Given the description of an element on the screen output the (x, y) to click on. 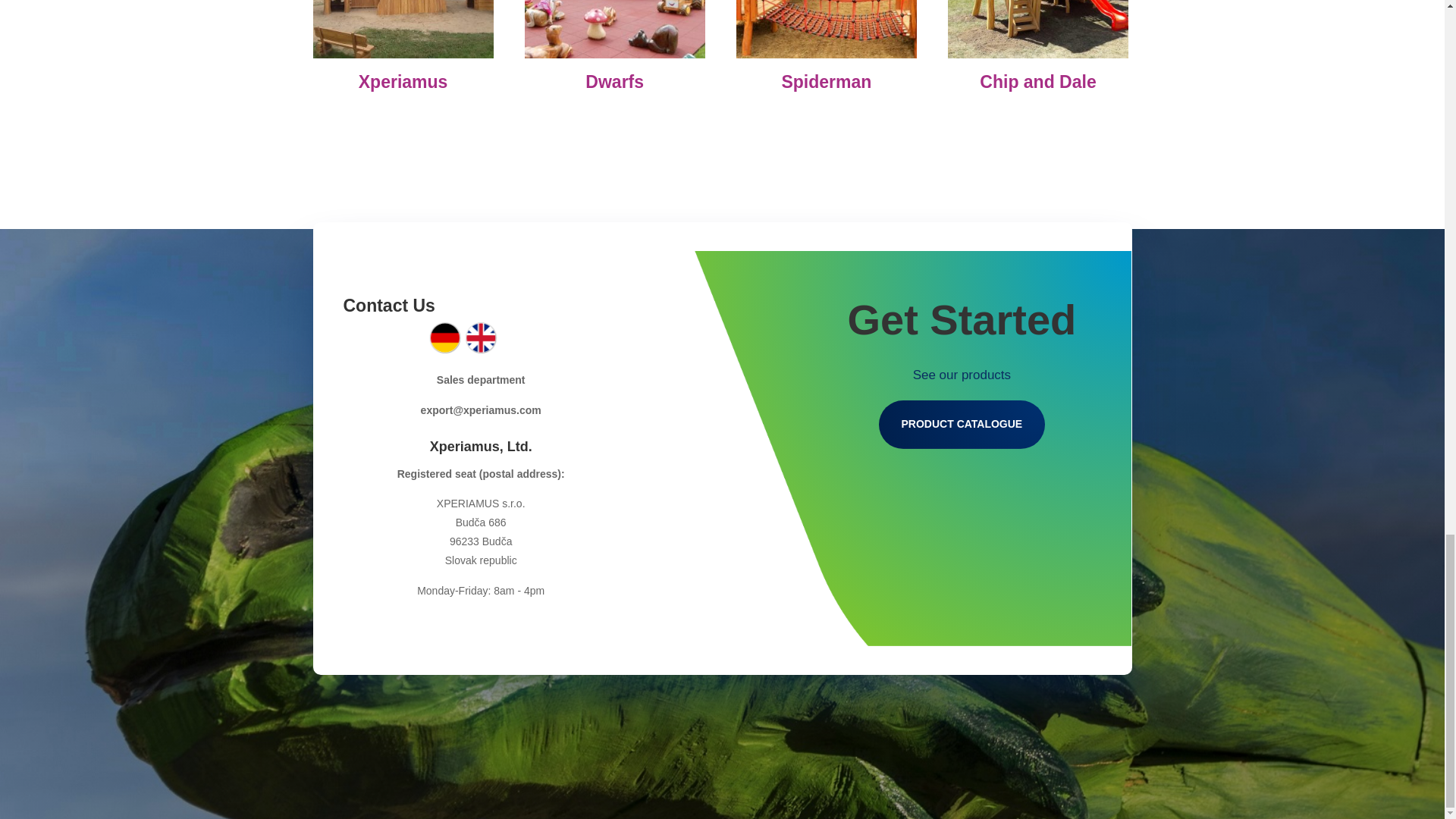
Spiderman (826, 49)
Chip and Dale (1037, 49)
Dwarfs (614, 49)
PRODUCT CATALOGUE (962, 424)
Xperiamus (403, 49)
